Given the description of an element on the screen output the (x, y) to click on. 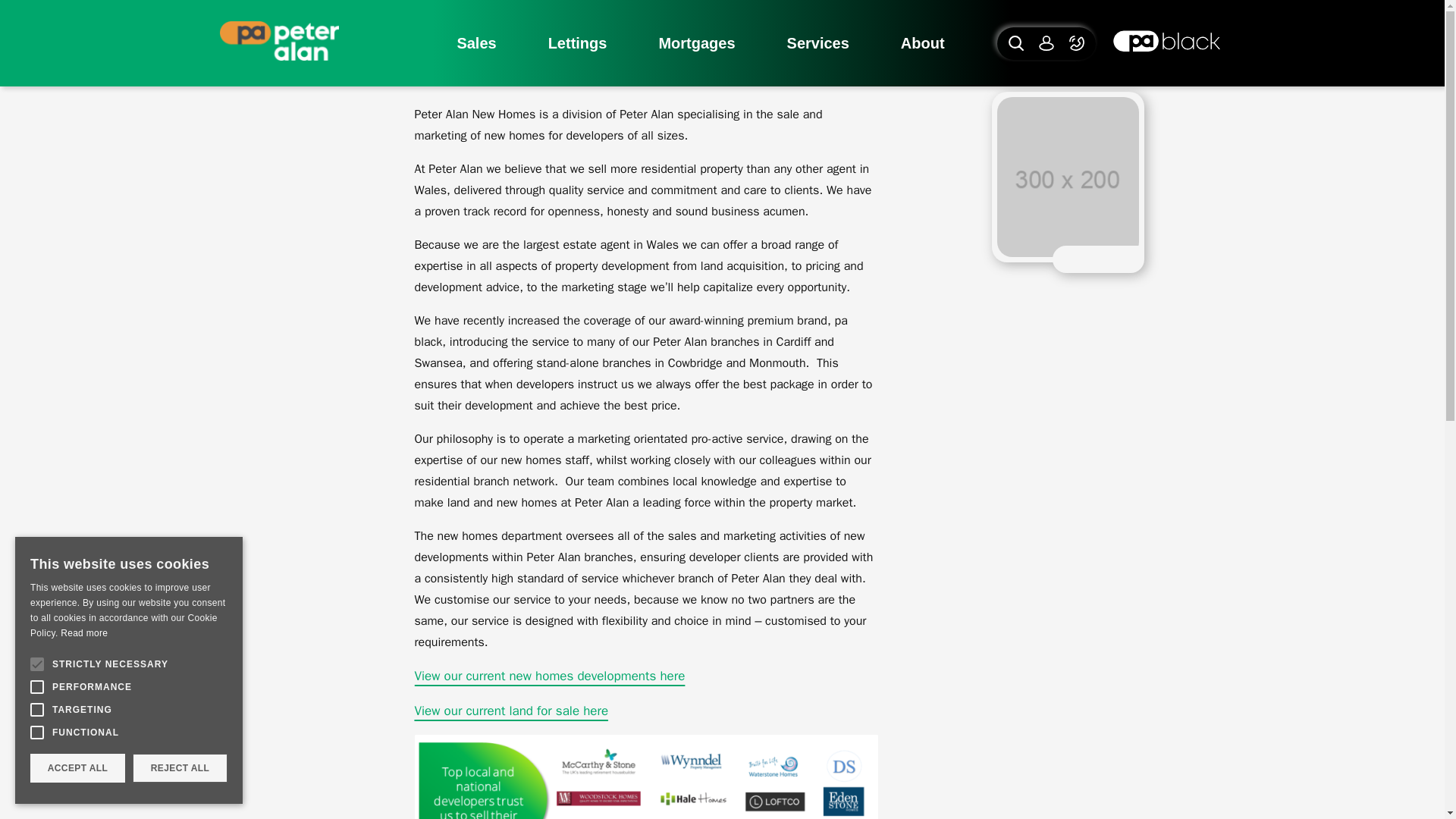
Lettings (577, 43)
Sales (475, 43)
navigate to Peter Alan Black page (1166, 43)
Mortgages (695, 43)
